Given the description of an element on the screen output the (x, y) to click on. 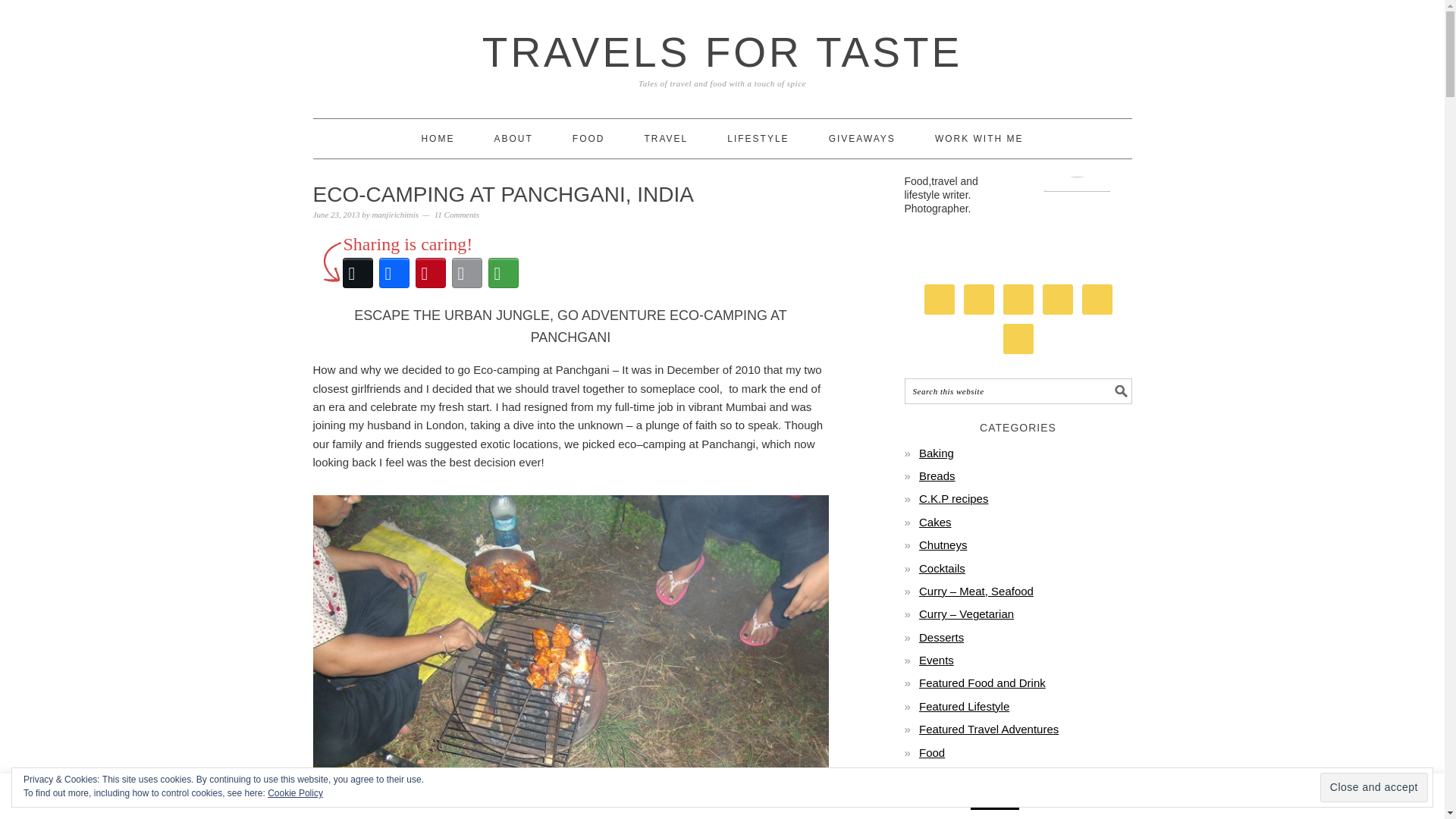
More Options (502, 272)
WORK WITH ME (978, 138)
ECO-CAMPING AT PANCHGANI, INDIA (503, 194)
TRAVELS FOR TASTE (721, 52)
HOME (437, 138)
Pinterest (430, 272)
Email This (466, 272)
manjirichitnis (395, 214)
TRAVEL (665, 138)
Close and accept (1374, 787)
ABOUT (512, 138)
LIFESTYLE (757, 138)
GIVEAWAYS (861, 138)
